Given the description of an element on the screen output the (x, y) to click on. 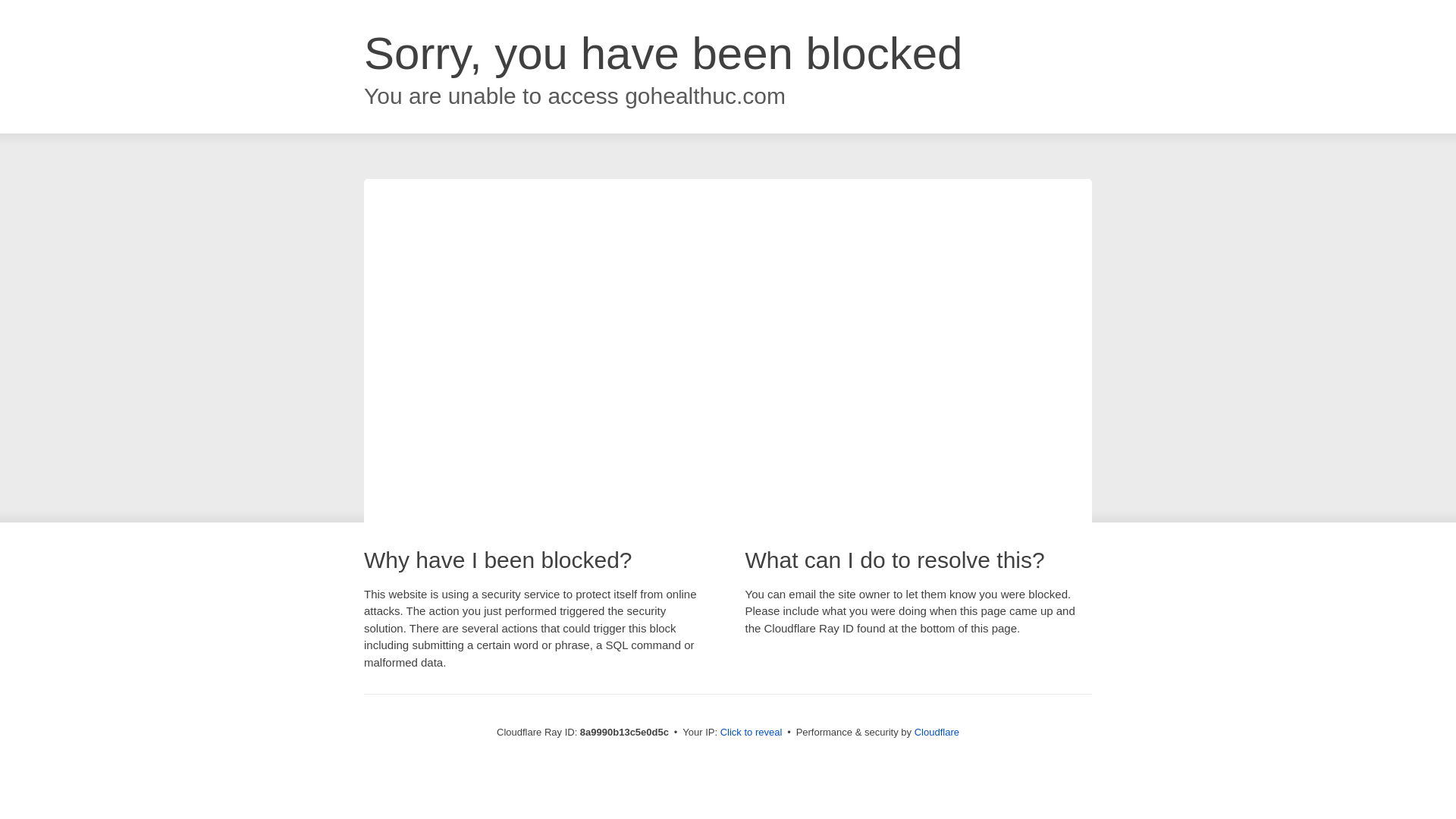
Cloudflare (936, 731)
Click to reveal (751, 732)
